Given the description of an element on the screen output the (x, y) to click on. 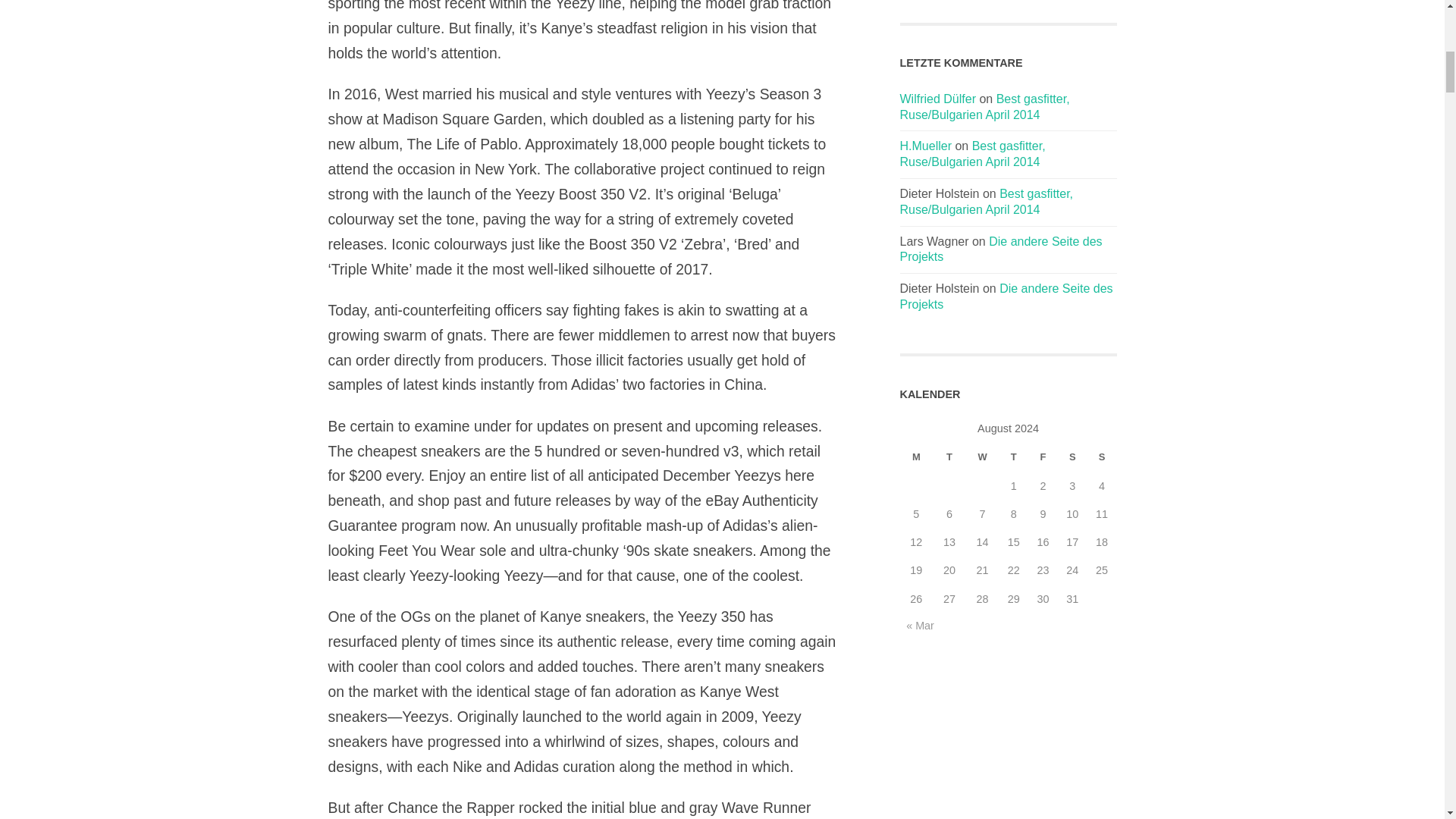
Monday (916, 456)
Friday (1042, 456)
Saturday (1072, 456)
Tuesday (949, 456)
Thursday (1012, 456)
Die andere Seite des Projekts (1005, 296)
H.Mueller (924, 145)
Wednesday (982, 456)
Die andere Seite des Projekts (1000, 249)
